Given the description of an element on the screen output the (x, y) to click on. 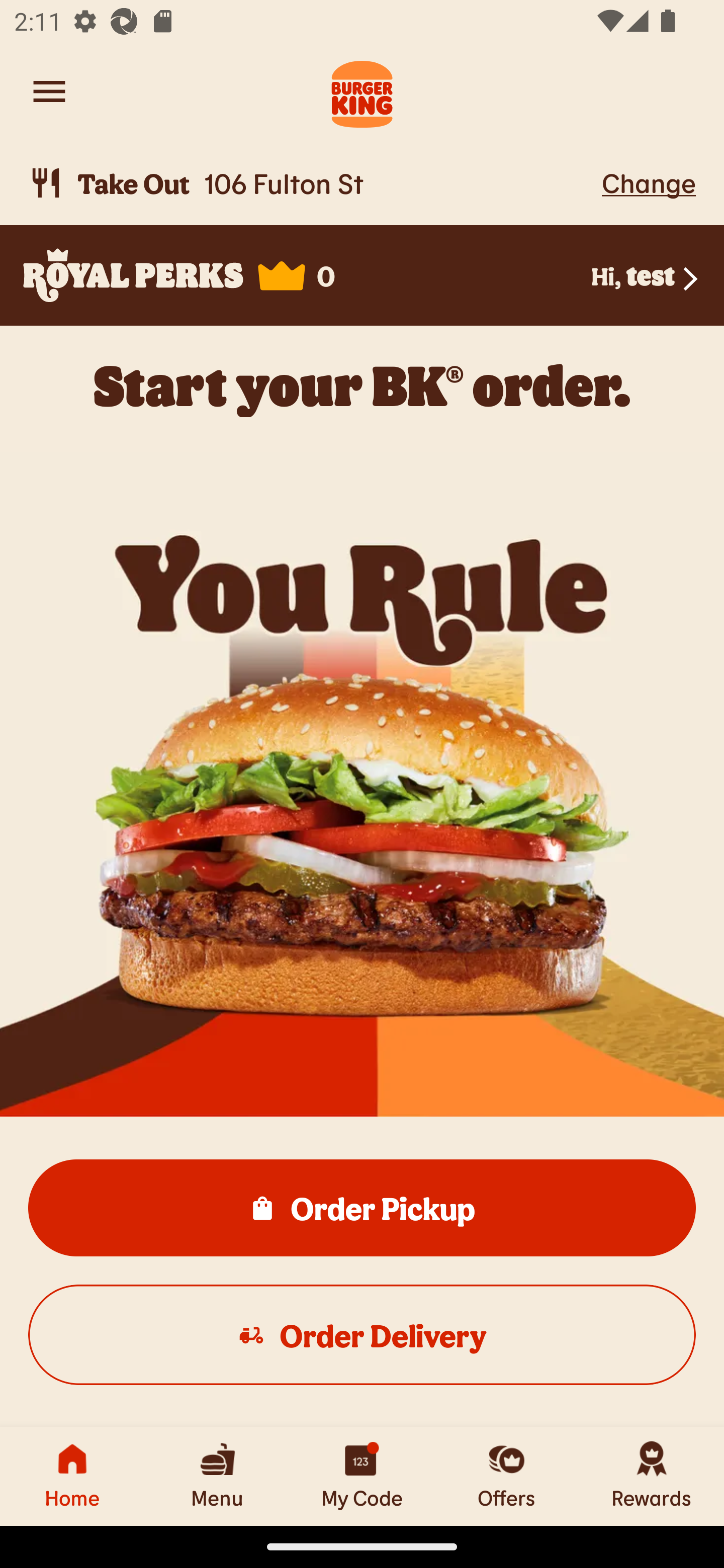
Burger King Logo. Navigate to Home (362, 91)
Navigate to account menu  (49, 91)
Take Out, 106 Fulton St  Take Out 106 Fulton St (311, 183)
Change (648, 182)
Start your BK® order. (361, 385)
, Order Pickup  Order Pickup (361, 1206)
, Order Delivery  Order Delivery (361, 1334)
Home (72, 1475)
Menu (216, 1475)
My Code (361, 1475)
Offers (506, 1475)
Rewards (651, 1475)
